Given the description of an element on the screen output the (x, y) to click on. 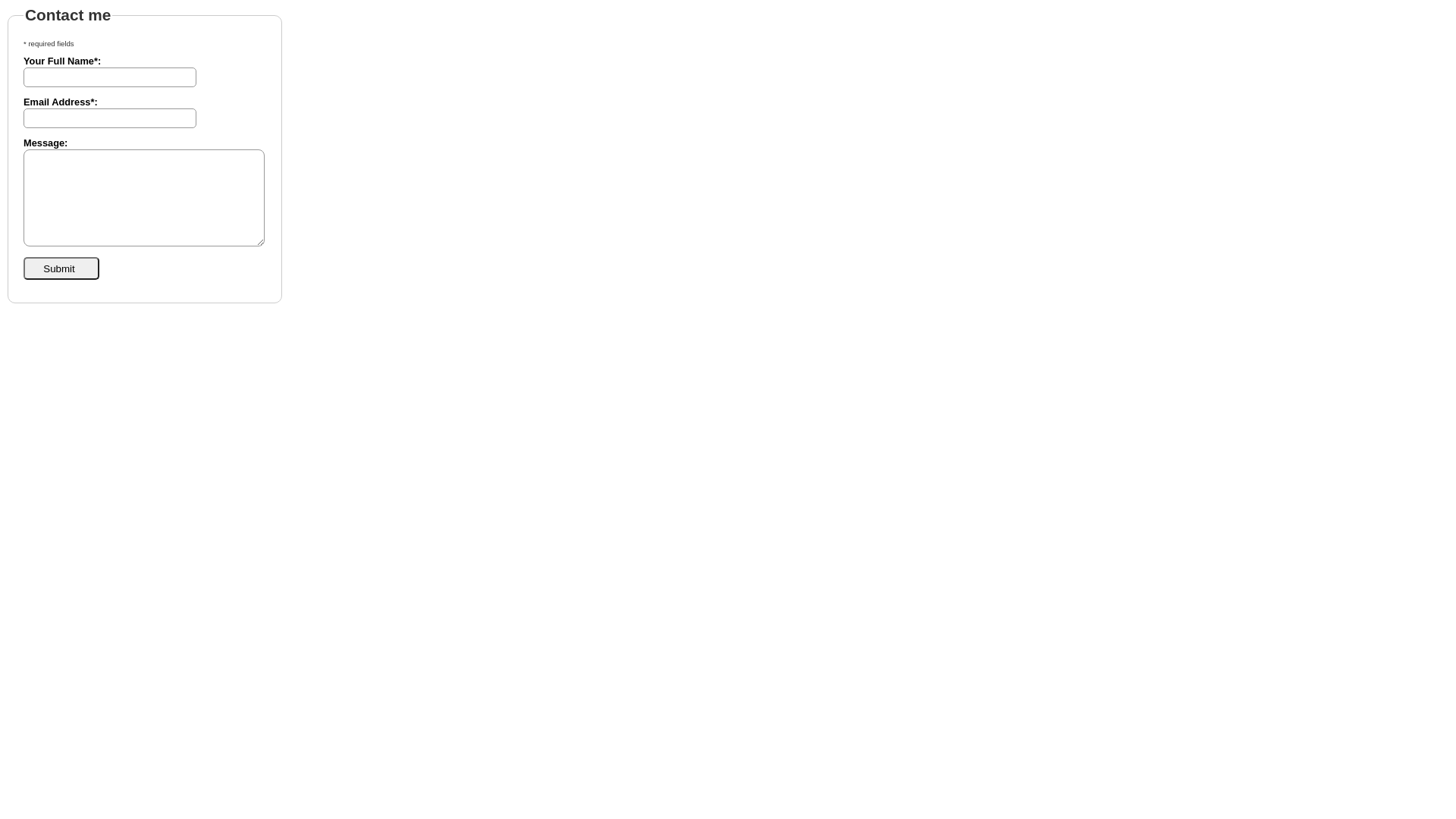
Submit Element type: text (61, 268)
